Given the description of an element on the screen output the (x, y) to click on. 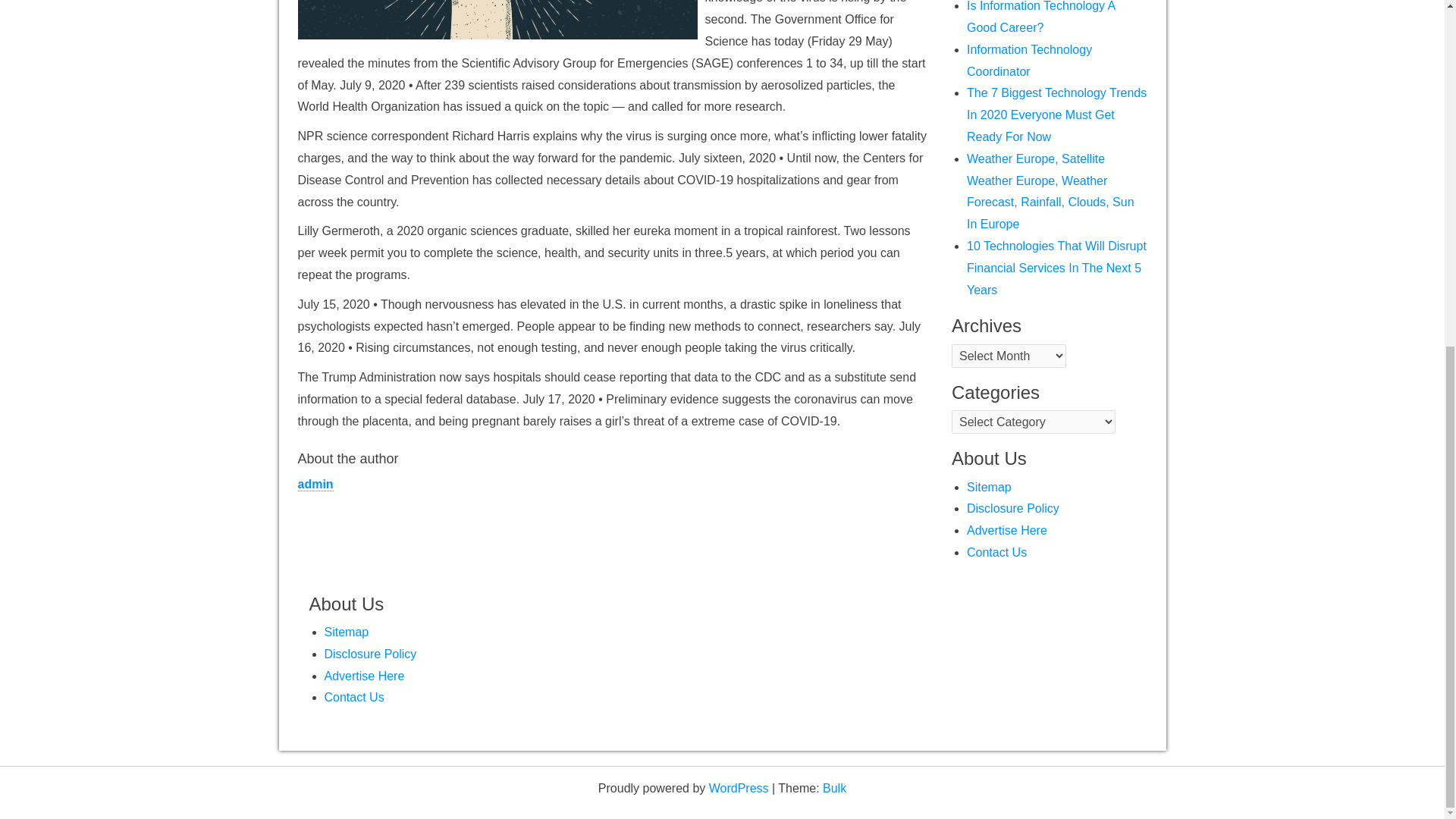
Information Technology Coordinator (1029, 60)
Is Information Technology A Good Career? (1040, 17)
admin (315, 484)
